Given the description of an element on the screen output the (x, y) to click on. 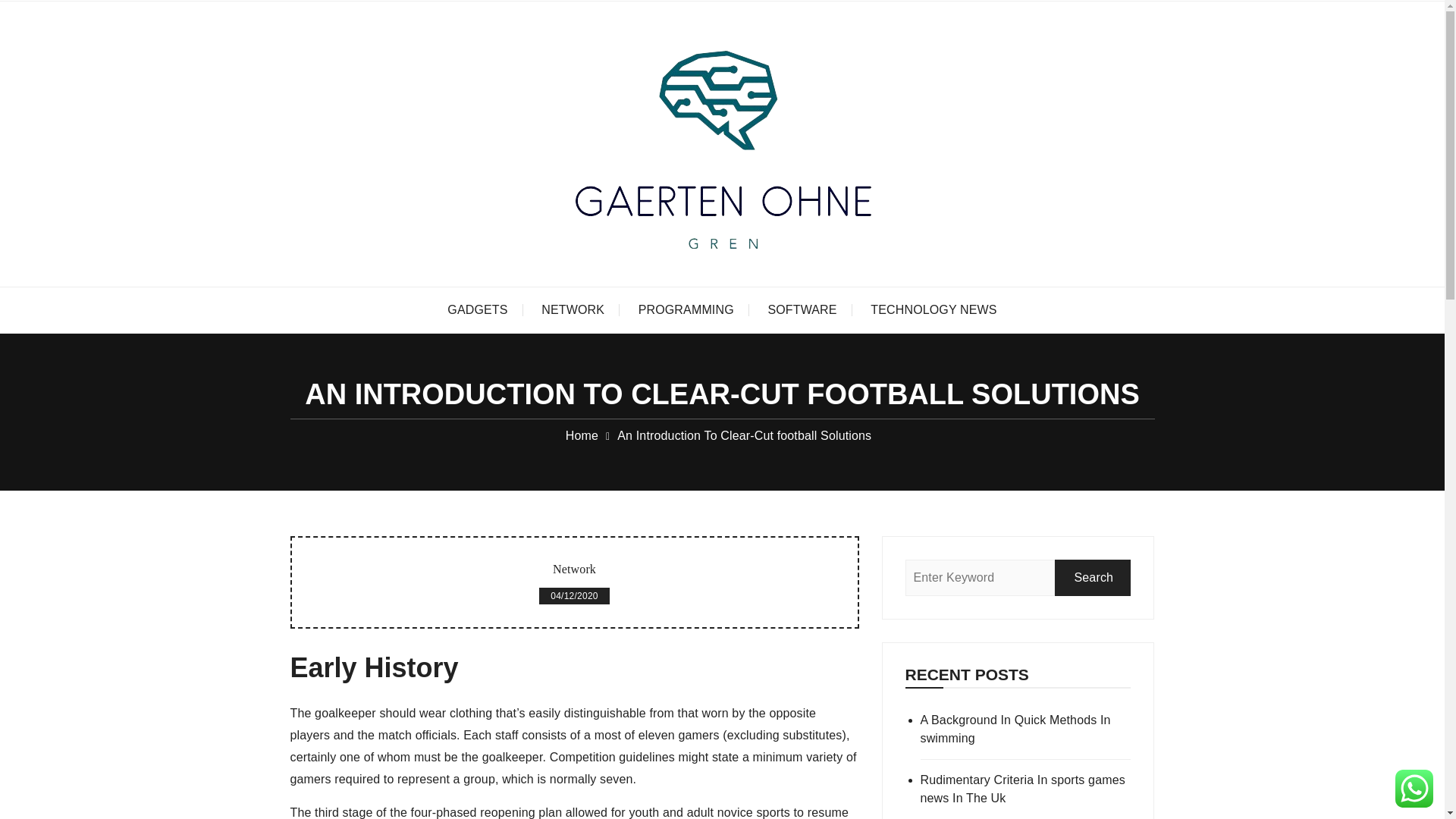
PROGRAMMING (686, 309)
An Introduction To Clear-Cut football Solutions (743, 435)
SOFTWARE (801, 309)
GADGETS (477, 309)
Search (1092, 577)
Search (1092, 577)
Rudimentary Criteria In sports games news In The Uk (1025, 789)
A Background In Quick Methods In swimming (1025, 729)
Home (582, 435)
NETWORK (572, 309)
Network (574, 569)
TECHNOLOGY NEWS (933, 309)
